Given the description of an element on the screen output the (x, y) to click on. 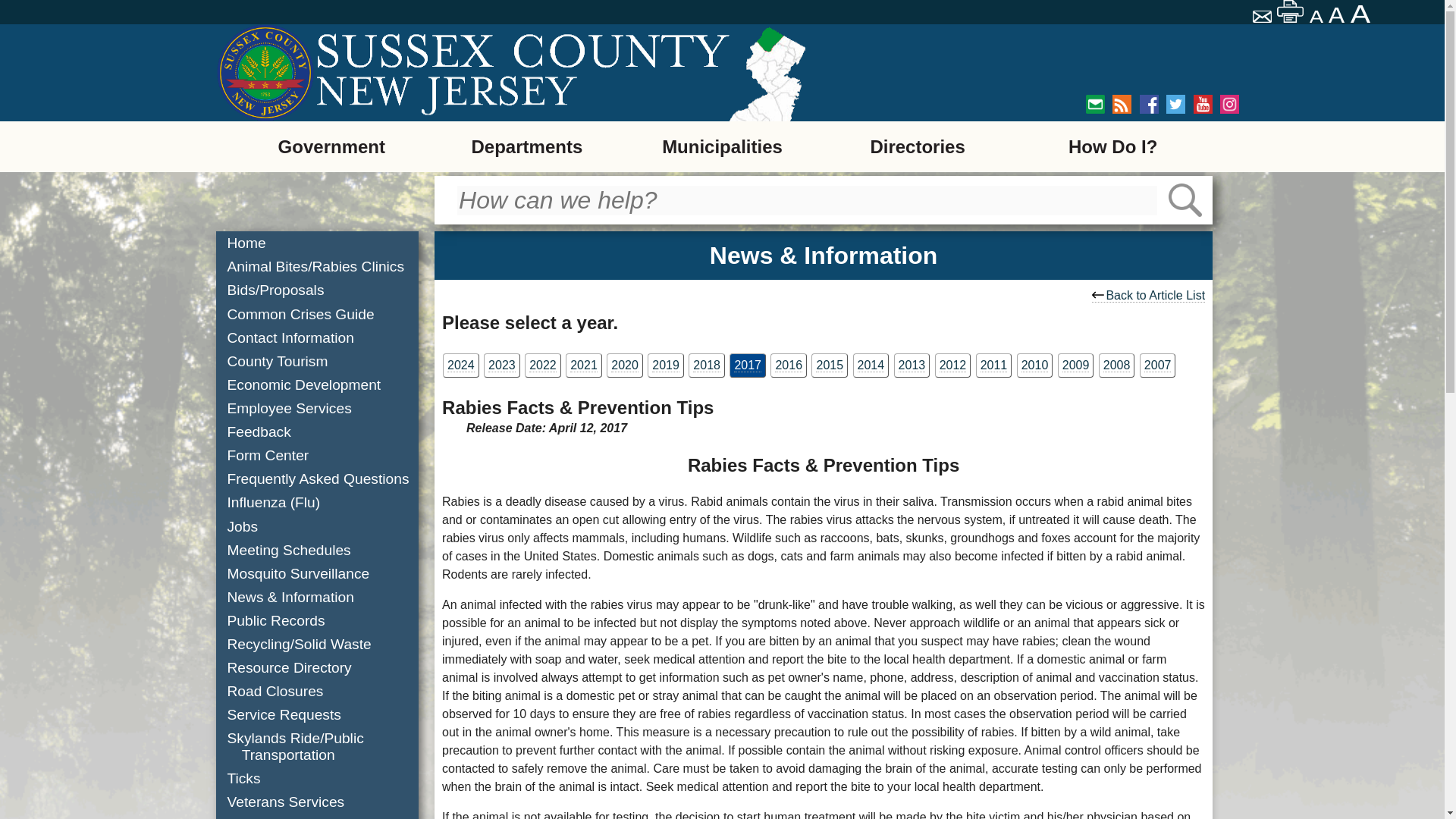
Search Box (807, 200)
Government (330, 146)
Small font size (1316, 16)
Medium font size (1336, 14)
Print page (1291, 11)
Follow us on Twitter (1175, 104)
Visit our RSS feed (1121, 104)
Large font size (1362, 13)
Sign Up for emails from Sussex County (1095, 104)
Visit our Instagram page (1229, 104)
